Given the description of an element on the screen output the (x, y) to click on. 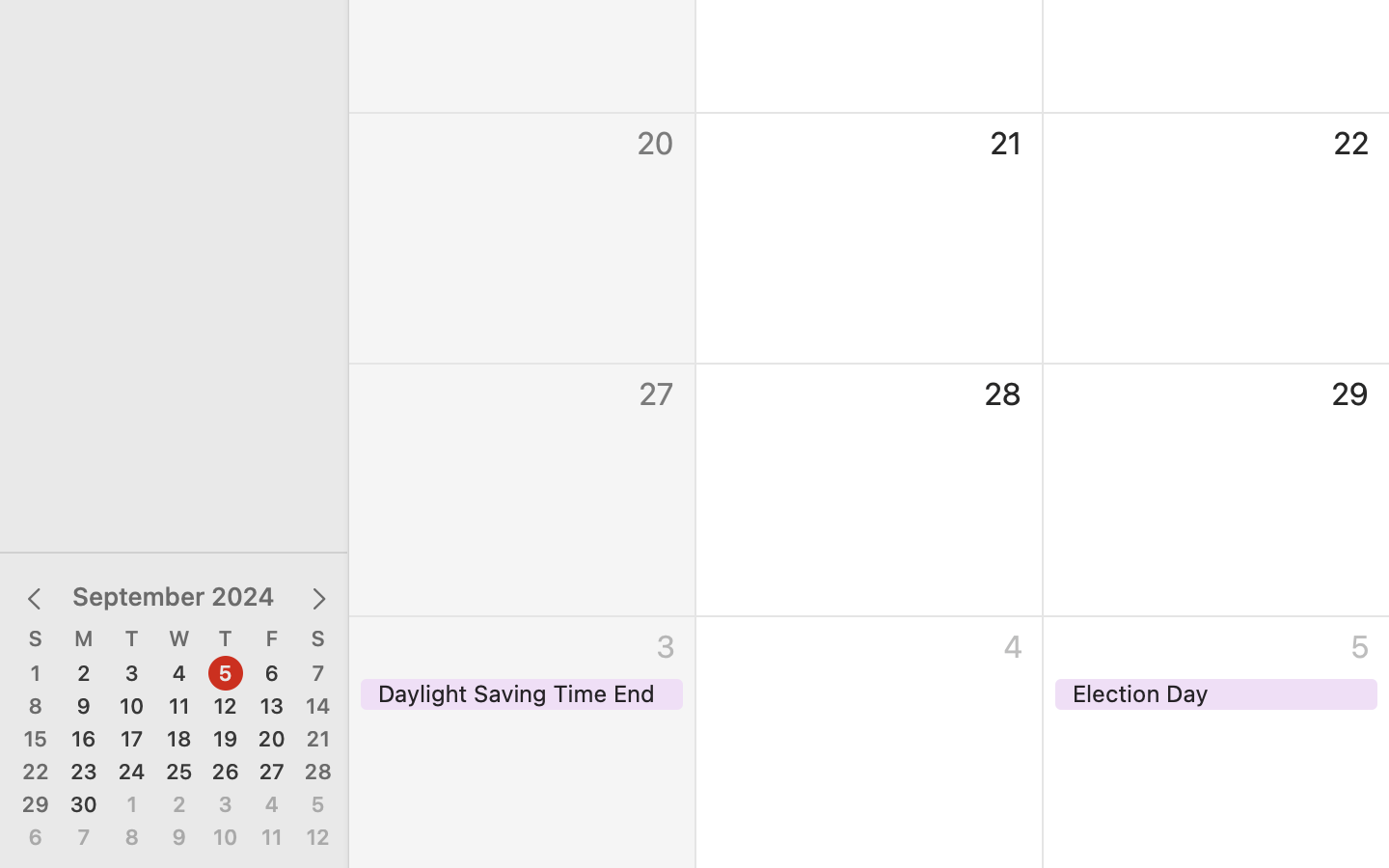
11 Element type: AXStaticText (179, 706)
23 Element type: AXStaticText (83, 772)
15 Element type: AXStaticText (35, 739)
16 Element type: AXStaticText (83, 739)
21 Element type: AXStaticText (318, 739)
